Given the description of an element on the screen output the (x, y) to click on. 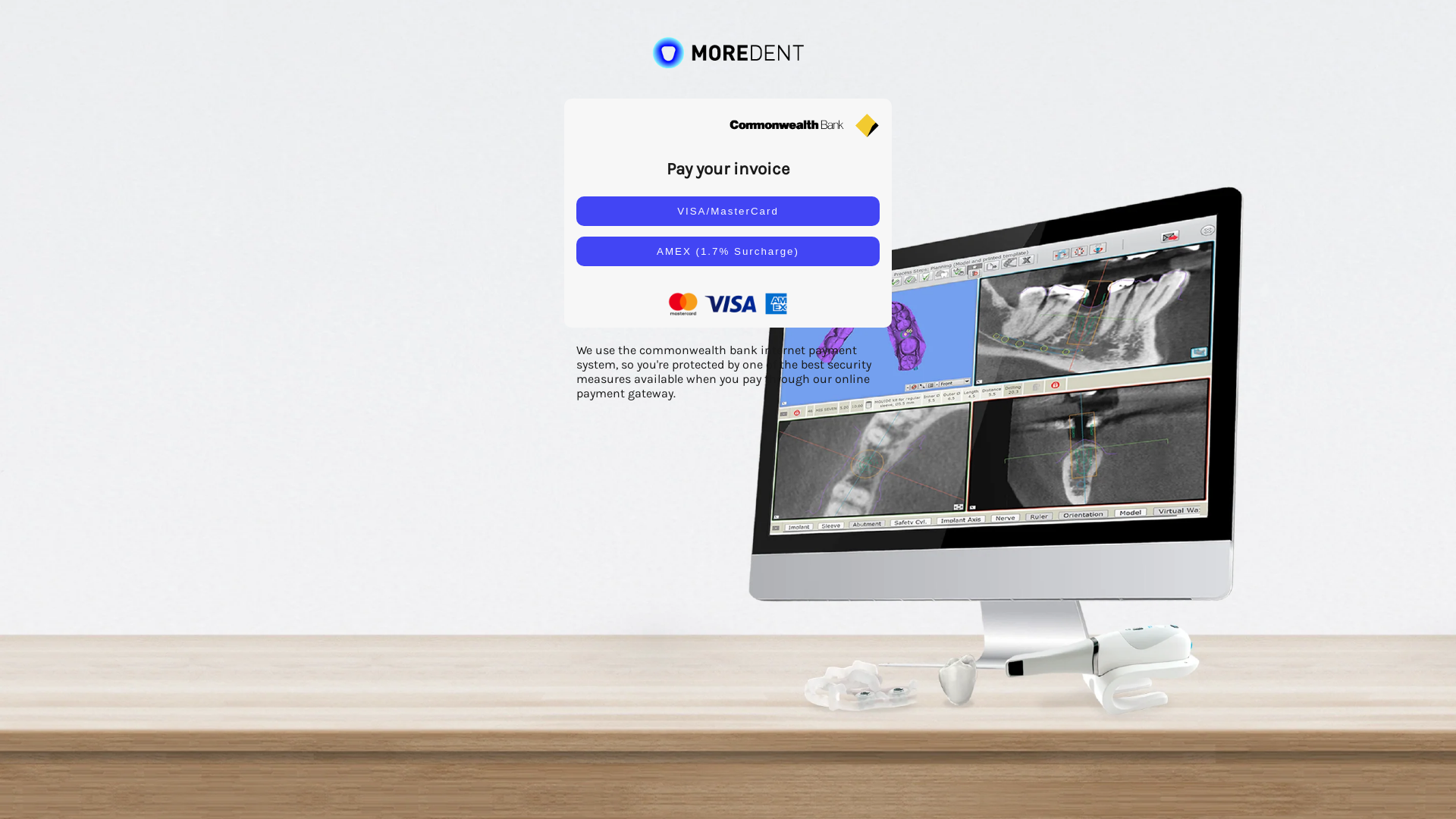
AMEX (1.7% Surcharge) Element type: text (727, 251)
VISA/MasterCard Element type: text (727, 210)
